Given the description of an element on the screen output the (x, y) to click on. 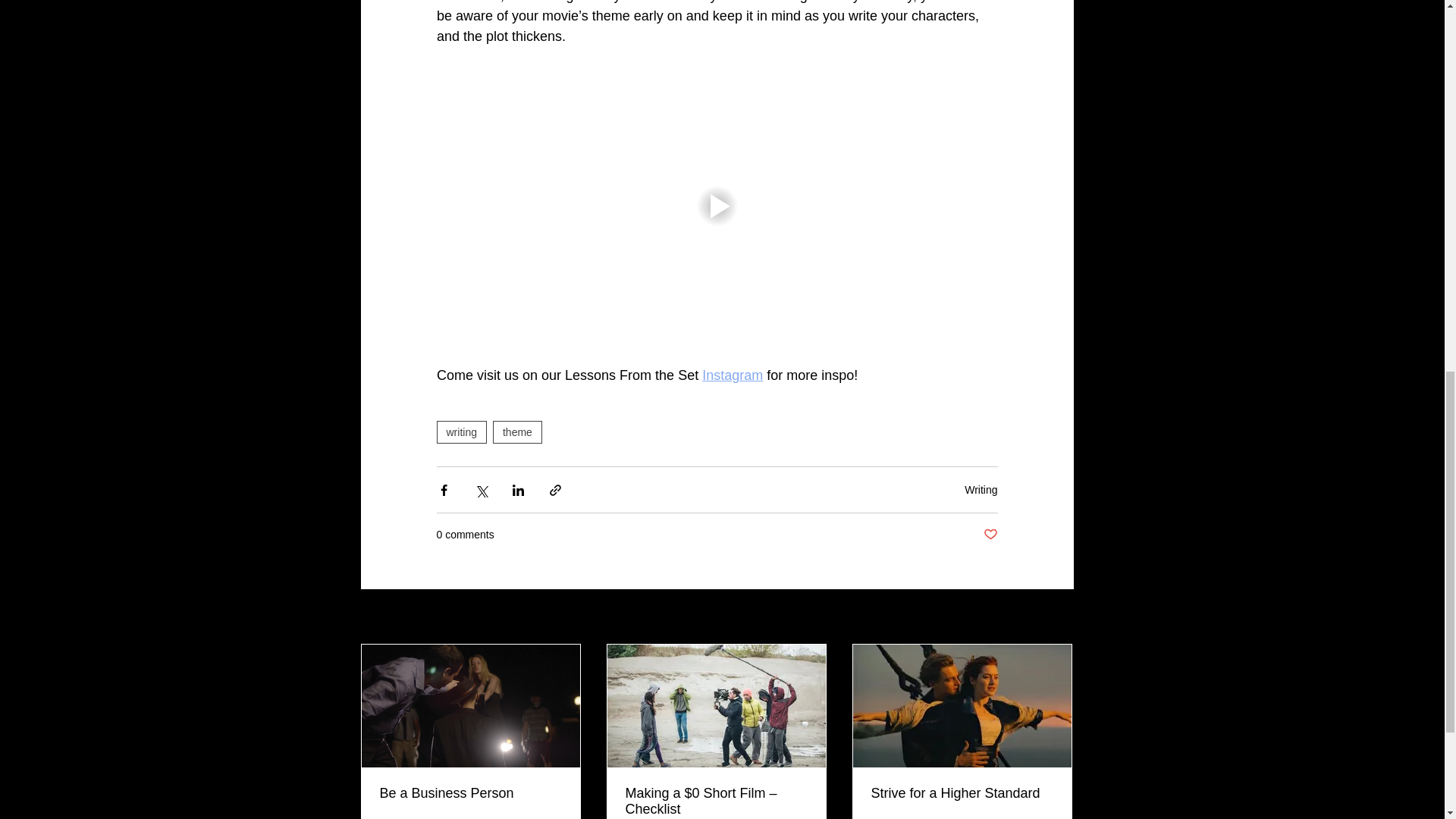
Strive for a Higher Standard (961, 793)
writing (461, 431)
Post not marked as liked (989, 534)
Writing (980, 490)
Instagram (731, 375)
theme (517, 431)
Be a Business Person (469, 793)
See All (1057, 617)
